Given the description of an element on the screen output the (x, y) to click on. 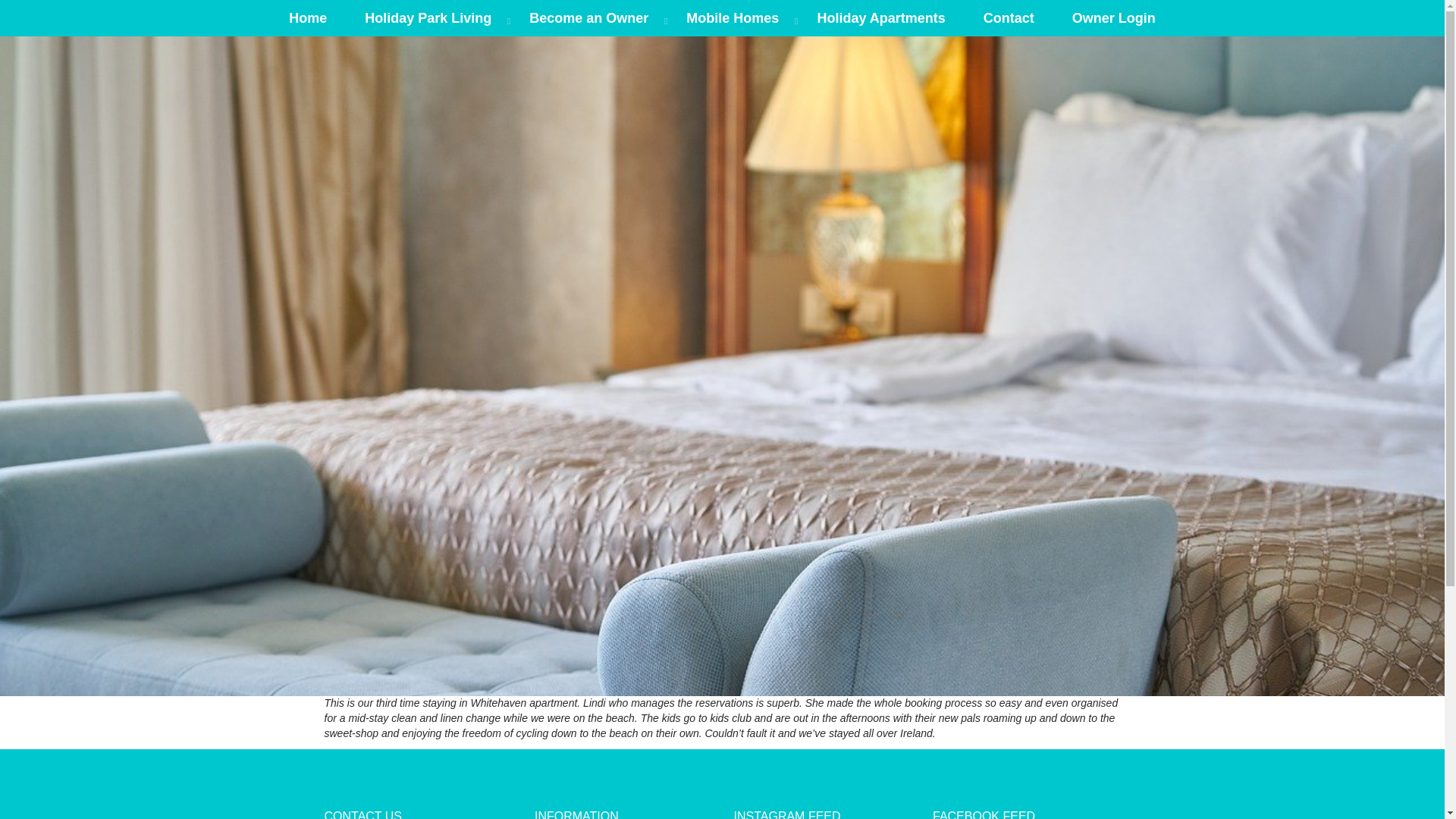
Contact (1007, 18)
Become an Owner (588, 18)
Mobile Homes (731, 18)
Home (307, 18)
Owner Login (1113, 18)
Holiday Park Living (428, 18)
Holiday Apartments (880, 18)
